Given the description of an element on the screen output the (x, y) to click on. 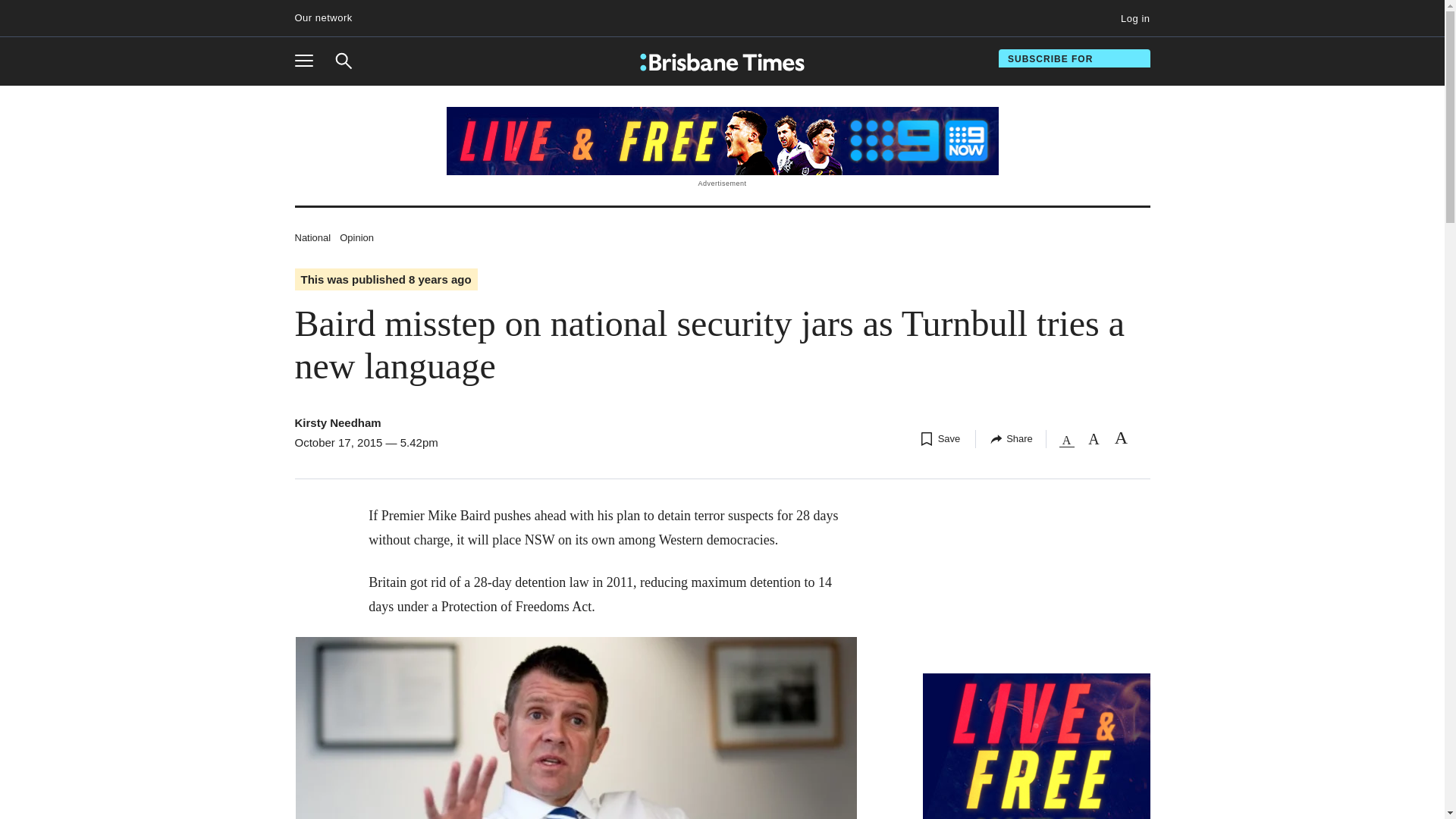
3rd party ad content (721, 141)
Opinion (356, 237)
Our network (329, 17)
3rd party ad content (1035, 746)
Articles by Kirsty Needham (337, 422)
Brisbane Times (722, 61)
National (309, 60)
Log in (312, 237)
